Given the description of an element on the screen output the (x, y) to click on. 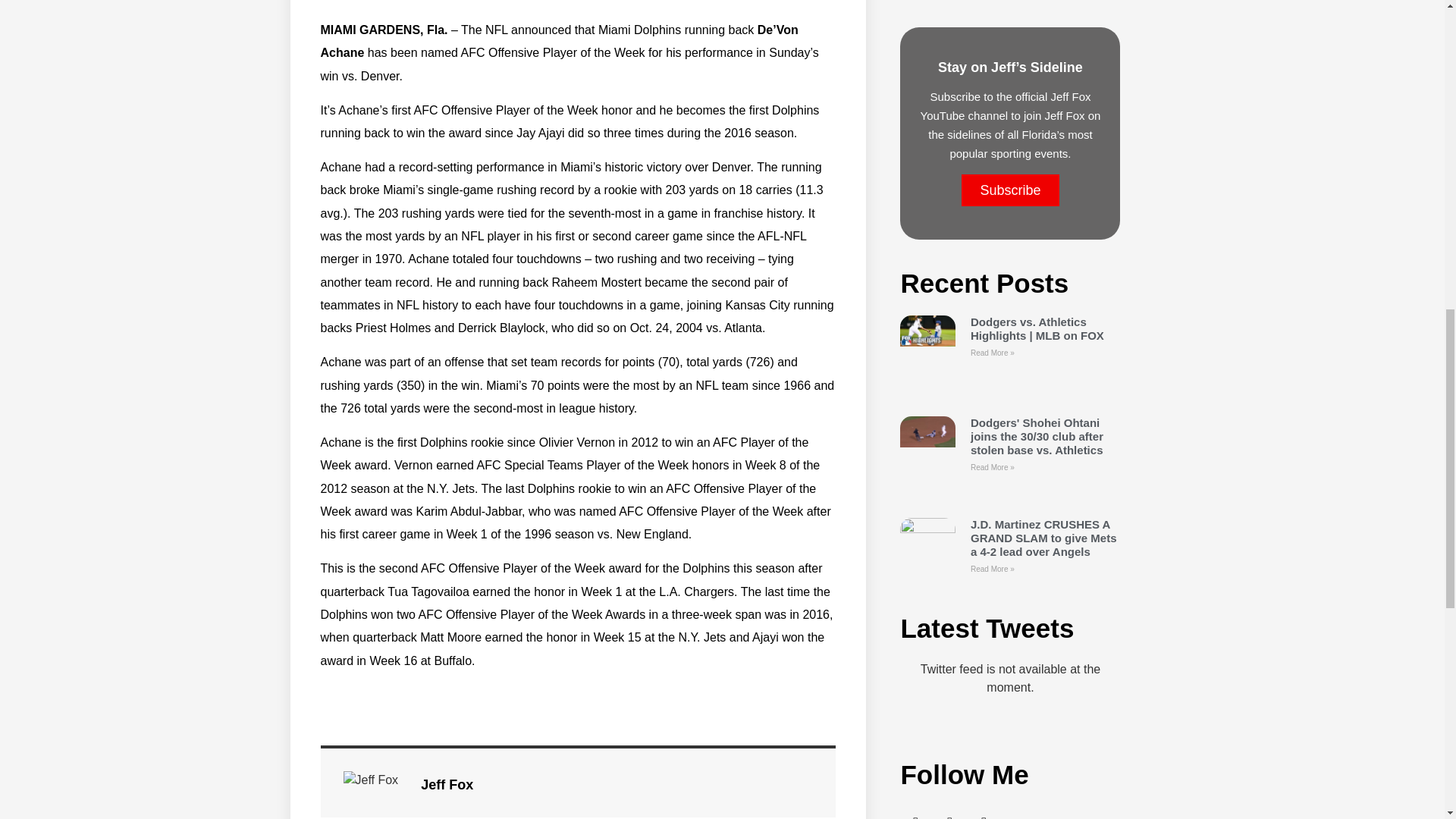
Subscribe (1009, 190)
